Given the description of an element on the screen output the (x, y) to click on. 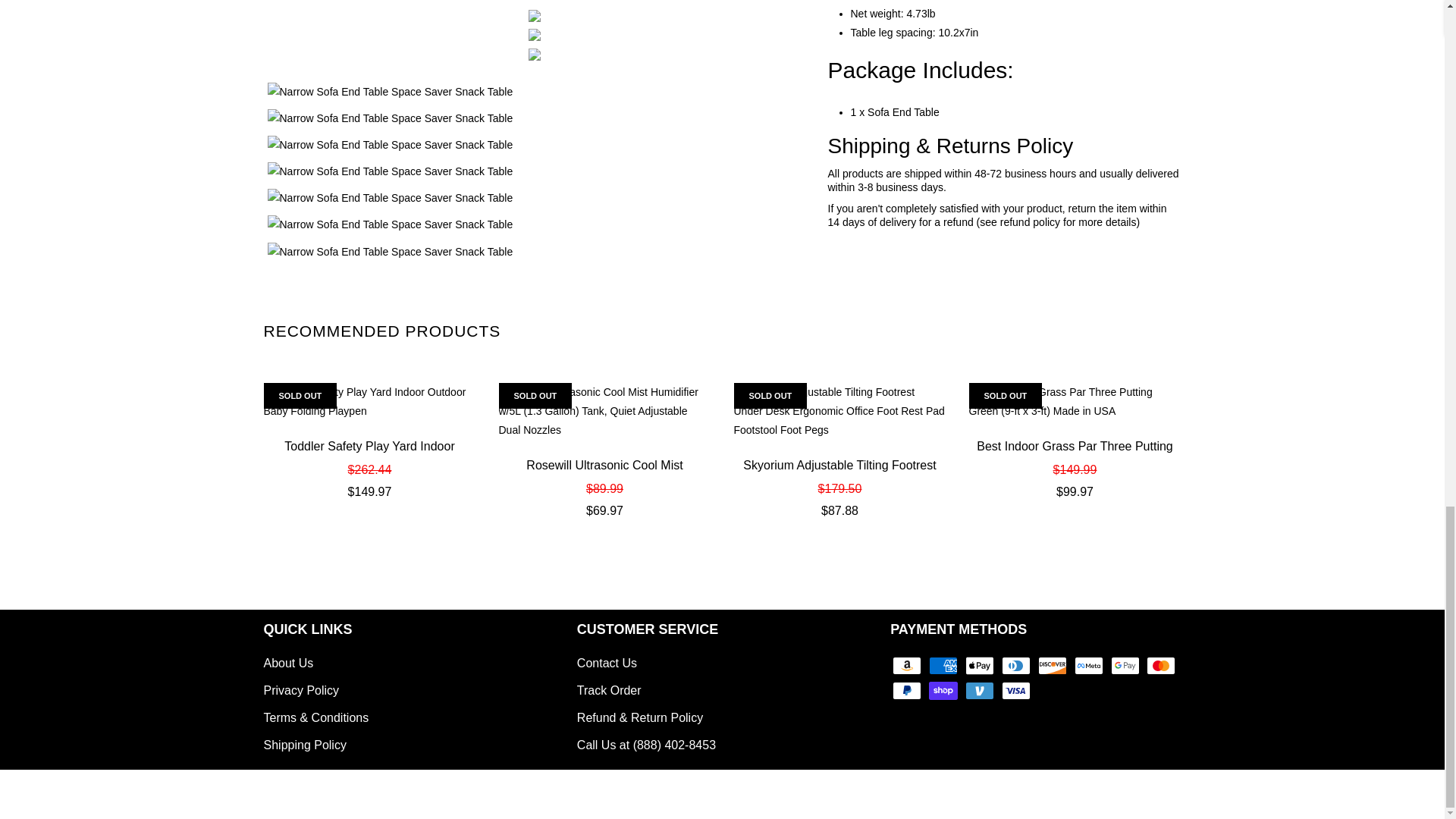
Narrow Sofa End Table Space Saver Snack Table (533, 15)
Privacy Policy (301, 689)
About Us (288, 662)
Shipping Policy (304, 744)
Privacy Policy (301, 689)
Narrow Sofa End Table Space Saver Snack Table (533, 171)
Narrow Sofa End Table Space Saver Snack Table (533, 34)
Narrow Sofa End Table Space Saver Snack Table (533, 54)
Narrow Sofa End Table Space Saver Snack Table (533, 251)
